Given the description of an element on the screen output the (x, y) to click on. 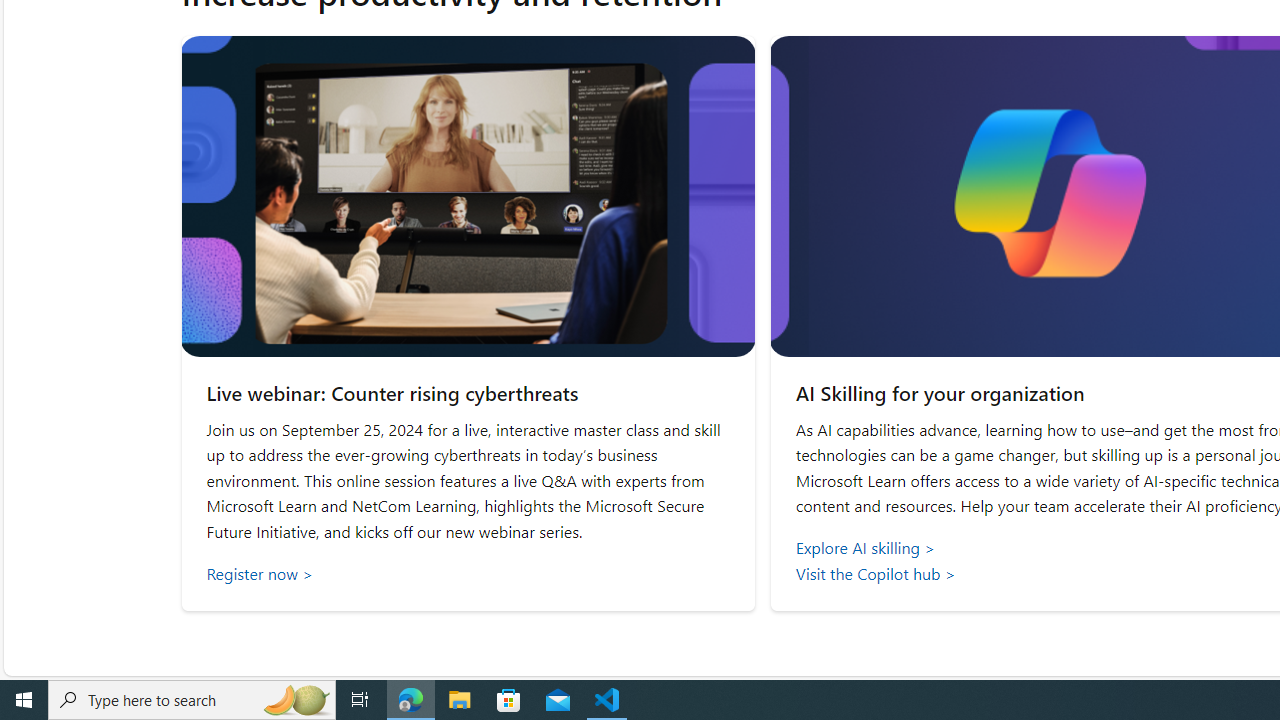
Register now > (467, 573)
